Given the description of an element on the screen output the (x, y) to click on. 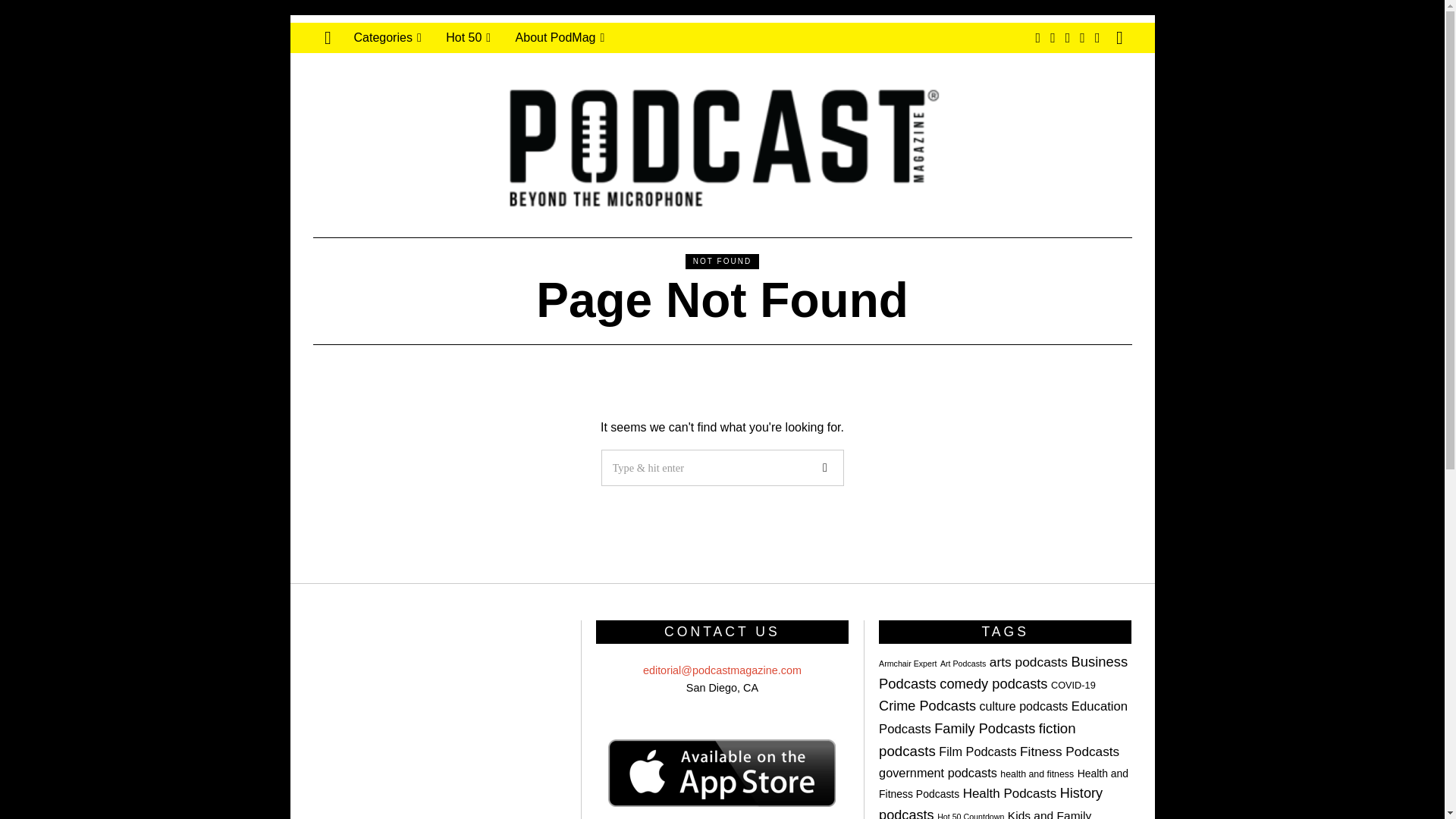
Categories (386, 37)
Go (824, 467)
About PodMag (560, 37)
Hot 50 (467, 37)
